Given the description of an element on the screen output the (x, y) to click on. 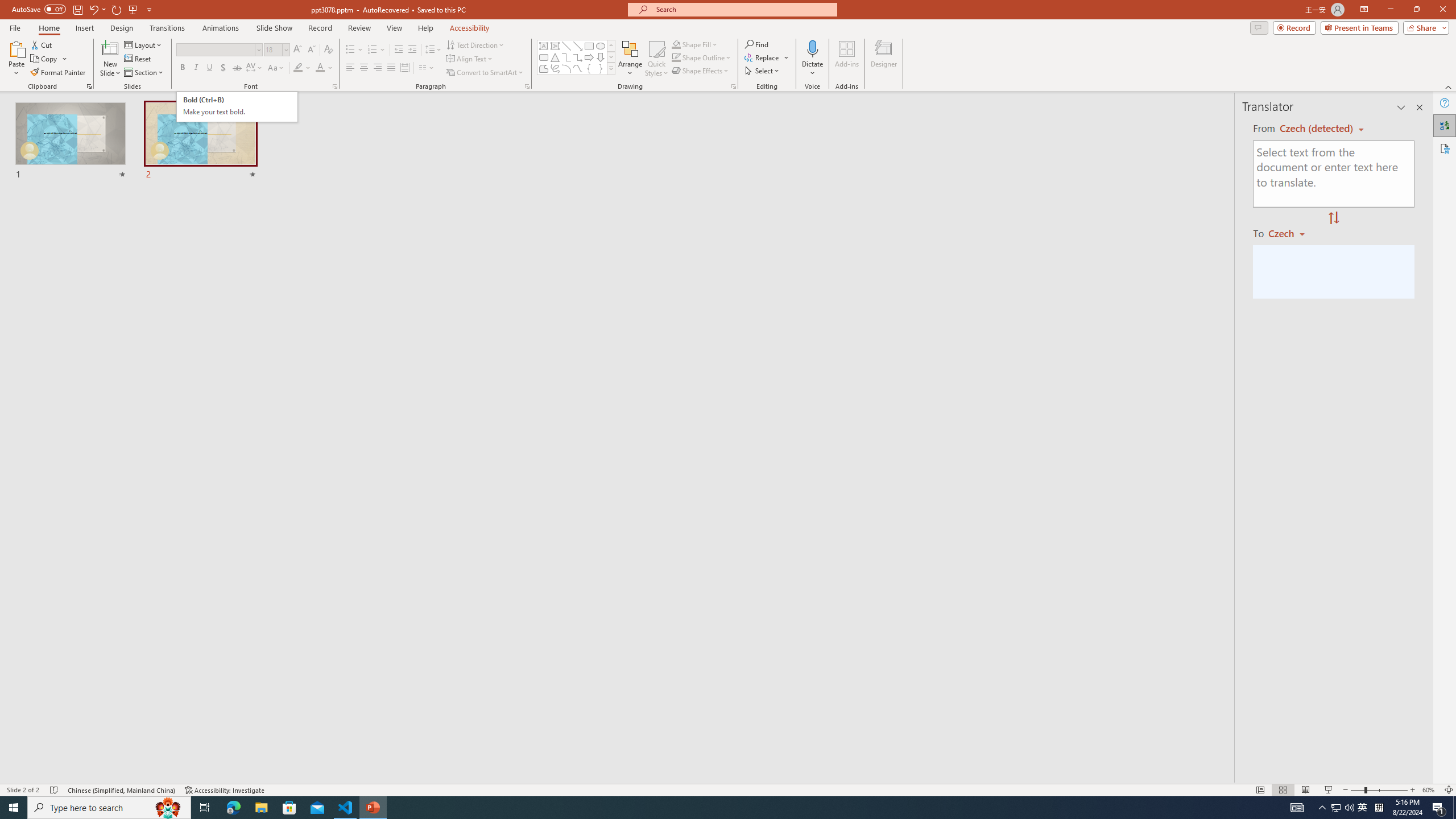
Columns (426, 67)
Arc (566, 68)
Reset (237, 106)
Freeform: Shape (138, 58)
